Given the description of an element on the screen output the (x, y) to click on. 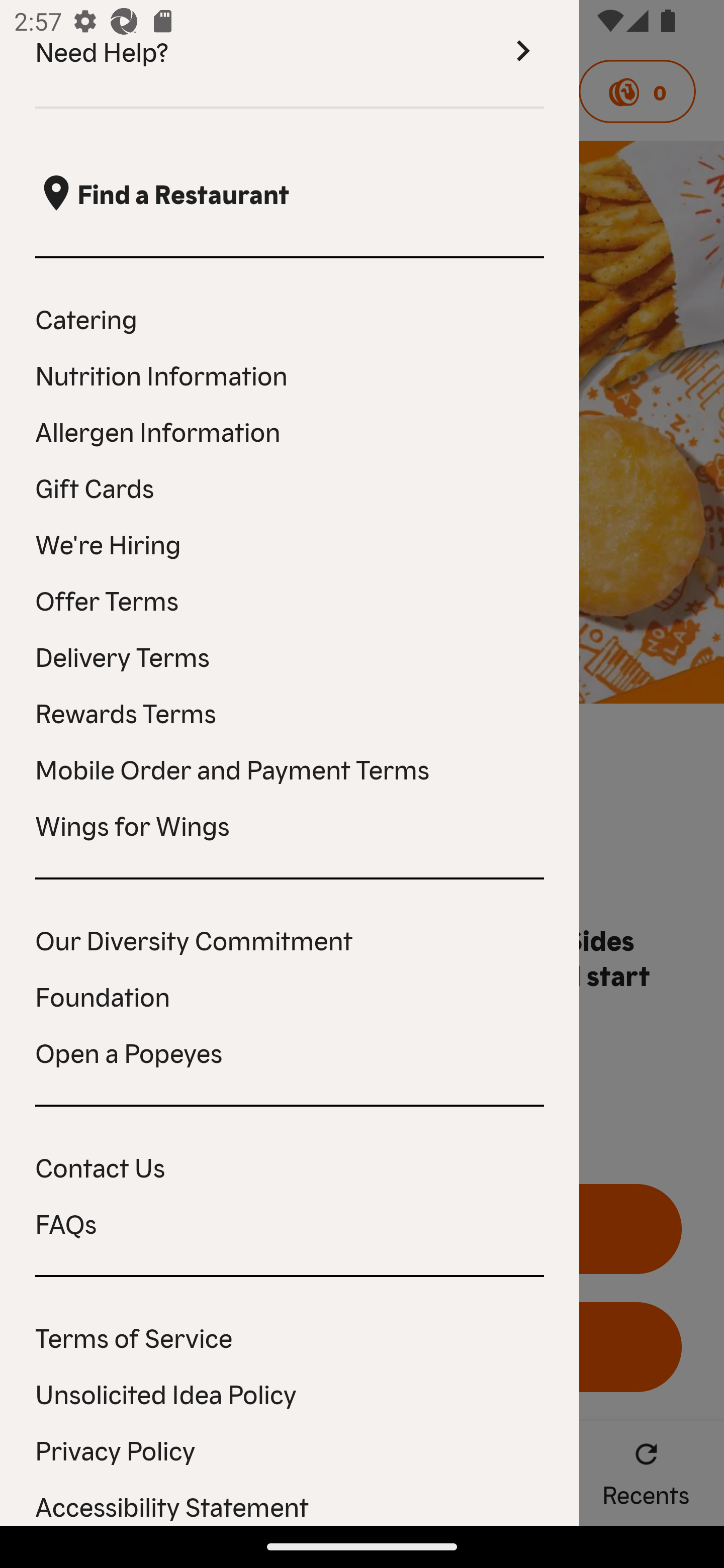
Need Help? Need Help?  (289, 54)
, Find a Restaurant  Find a Restaurant (289, 193)
Catering (289, 318)
Nutrition Information (289, 374)
Allergen Information (289, 430)
Gift Cards (289, 486)
We're Hiring (289, 543)
Offer Terms (289, 599)
Delivery Terms (289, 655)
Rewards Terms (289, 711)
Mobile Order and Payment Terms (289, 768)
Wings for Wings (289, 824)
Our Diversity Commitment (289, 938)
Foundation (289, 995)
Open a Popeyes (289, 1051)
Contact Us (289, 1166)
FAQs (289, 1222)
Terms of Service (289, 1336)
Unsolicited Idea Policy (289, 1393)
Privacy Policy (289, 1449)
Accessibility Statement (289, 1505)
